Given the description of an element on the screen output the (x, y) to click on. 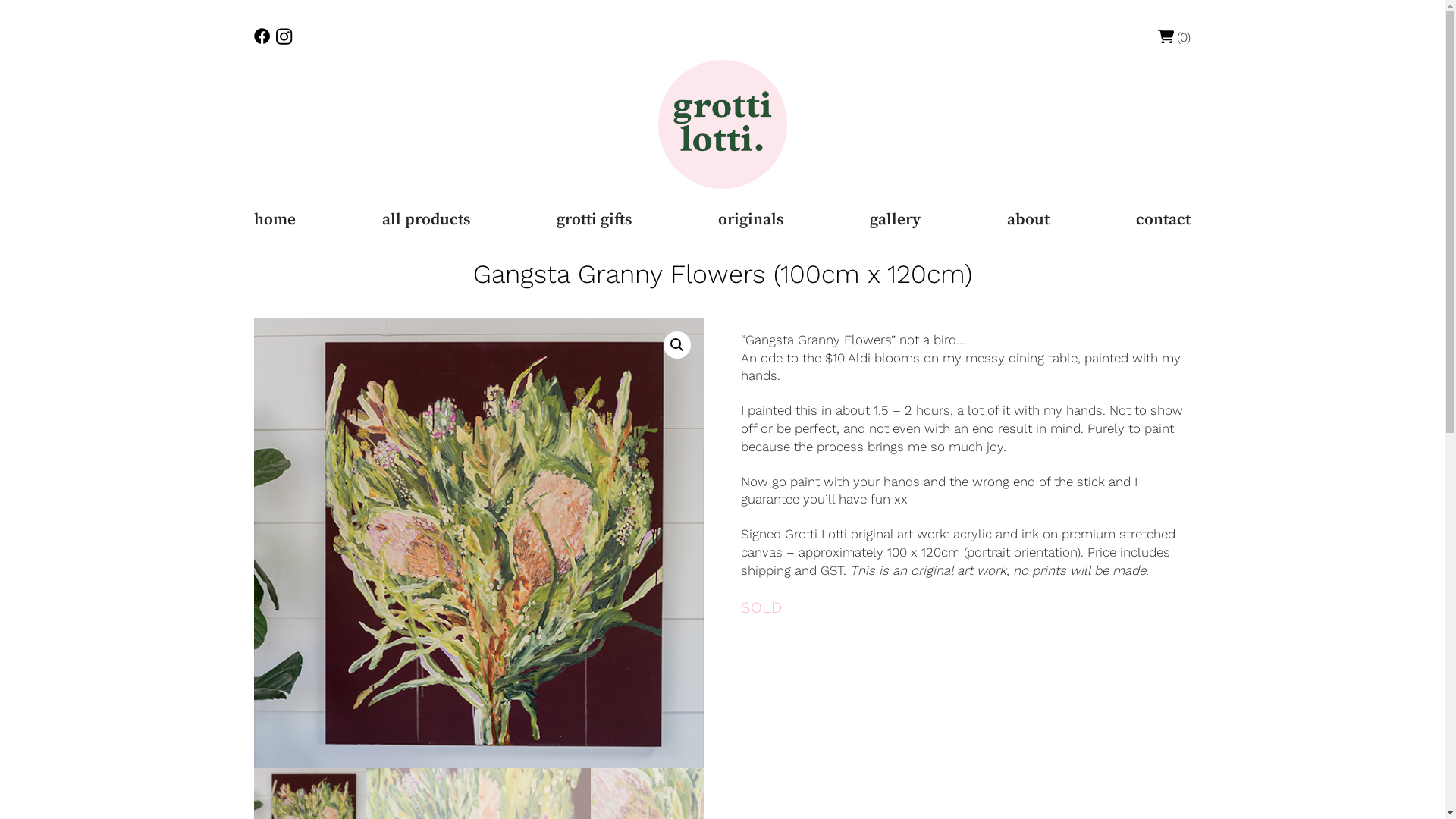
home Element type: text (274, 219)
contact Element type: text (1162, 219)
(0) Element type: text (1174, 36)
originals Element type: text (750, 219)
all products Element type: text (426, 219)
gallery Element type: text (894, 219)
grotti gifts Element type: text (593, 219)
about Element type: text (1028, 219)
